Given the description of an element on the screen output the (x, y) to click on. 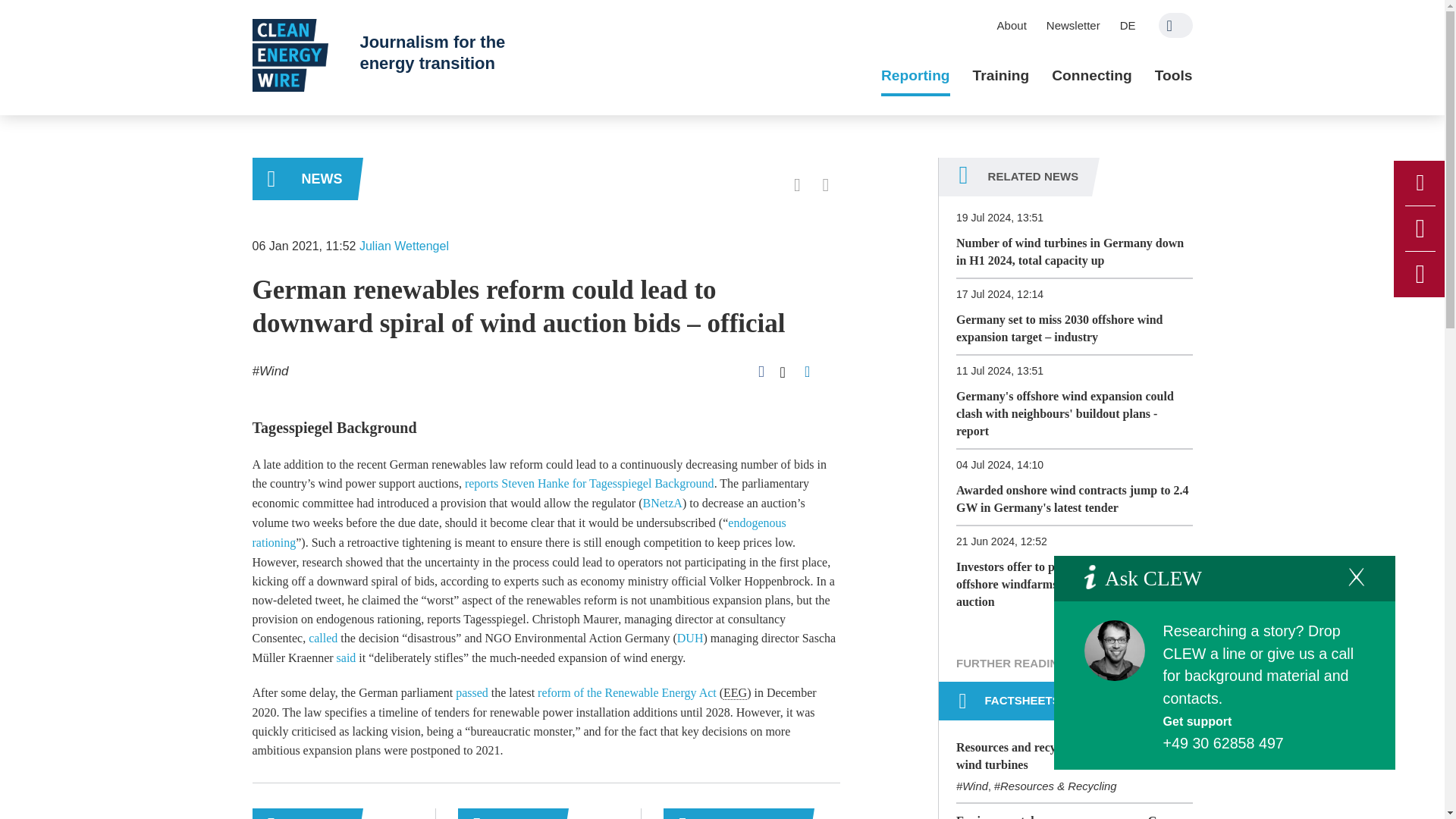
NEWS (303, 178)
Wind (269, 370)
About (1011, 25)
BNetzA (661, 502)
Julian Wettengel (403, 245)
Newsletter (1072, 25)
Connecting (1091, 75)
Training (1000, 75)
reports Steven Hanke for Tagesspiegel Background (589, 482)
Reporting (915, 75)
DE (1127, 25)
Tools (1173, 75)
Search (1175, 25)
